Given the description of an element on the screen output the (x, y) to click on. 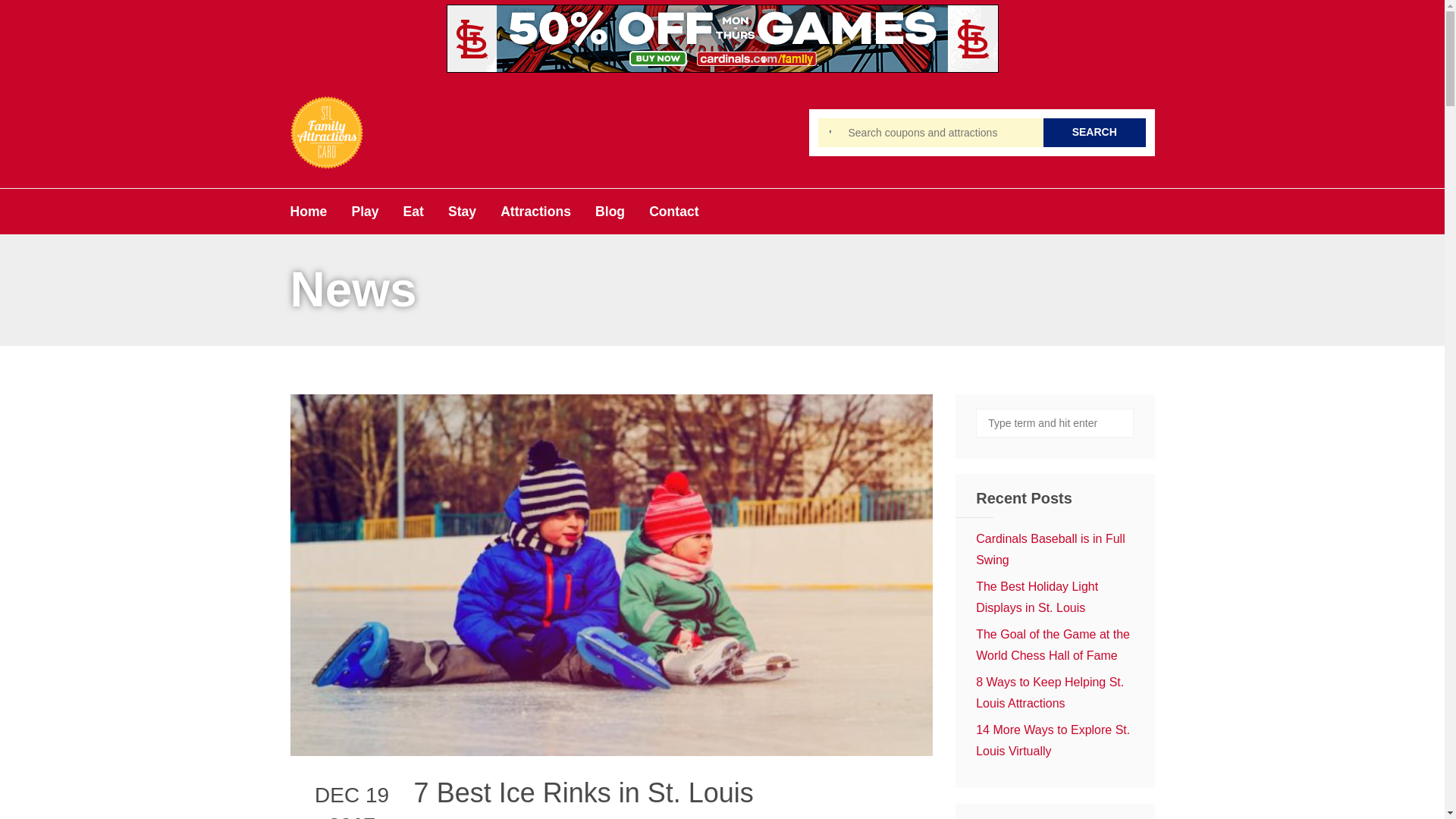
The Best Holiday Light Displays in St. Louis (1036, 596)
Play (364, 211)
Attractions (535, 211)
The Goal of the Game at the World Chess Hall of Fame (1052, 644)
Blog (609, 211)
SEARCH (1094, 132)
Blog (609, 211)
Stay (462, 211)
Stay (462, 211)
Home (307, 211)
